Given the description of an element on the screen output the (x, y) to click on. 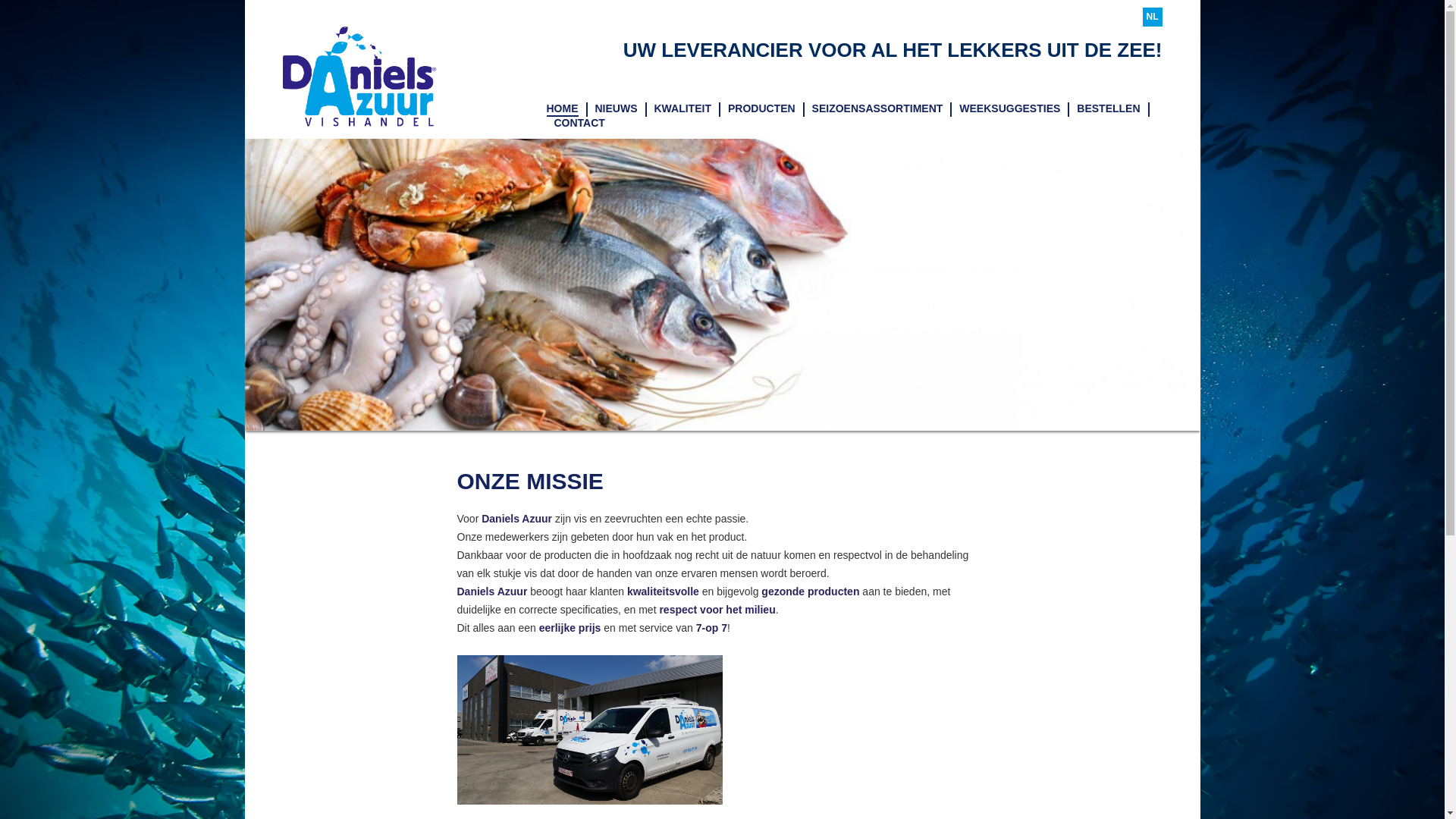
WEEKSUGGESTIES Element type: text (1009, 109)
PRODUCTEN Element type: text (761, 109)
NL Element type: text (1151, 16)
Daniels Azuur Element type: hover (359, 76)
HOME Element type: text (561, 109)
NIEUWS Element type: text (615, 109)
KWALITEIT Element type: text (681, 109)
SEIZOENSASSORTIMENT Element type: text (877, 109)
BESTELLEN Element type: text (1107, 109)
CONTACT Element type: text (578, 123)
